Given the description of an element on the screen output the (x, y) to click on. 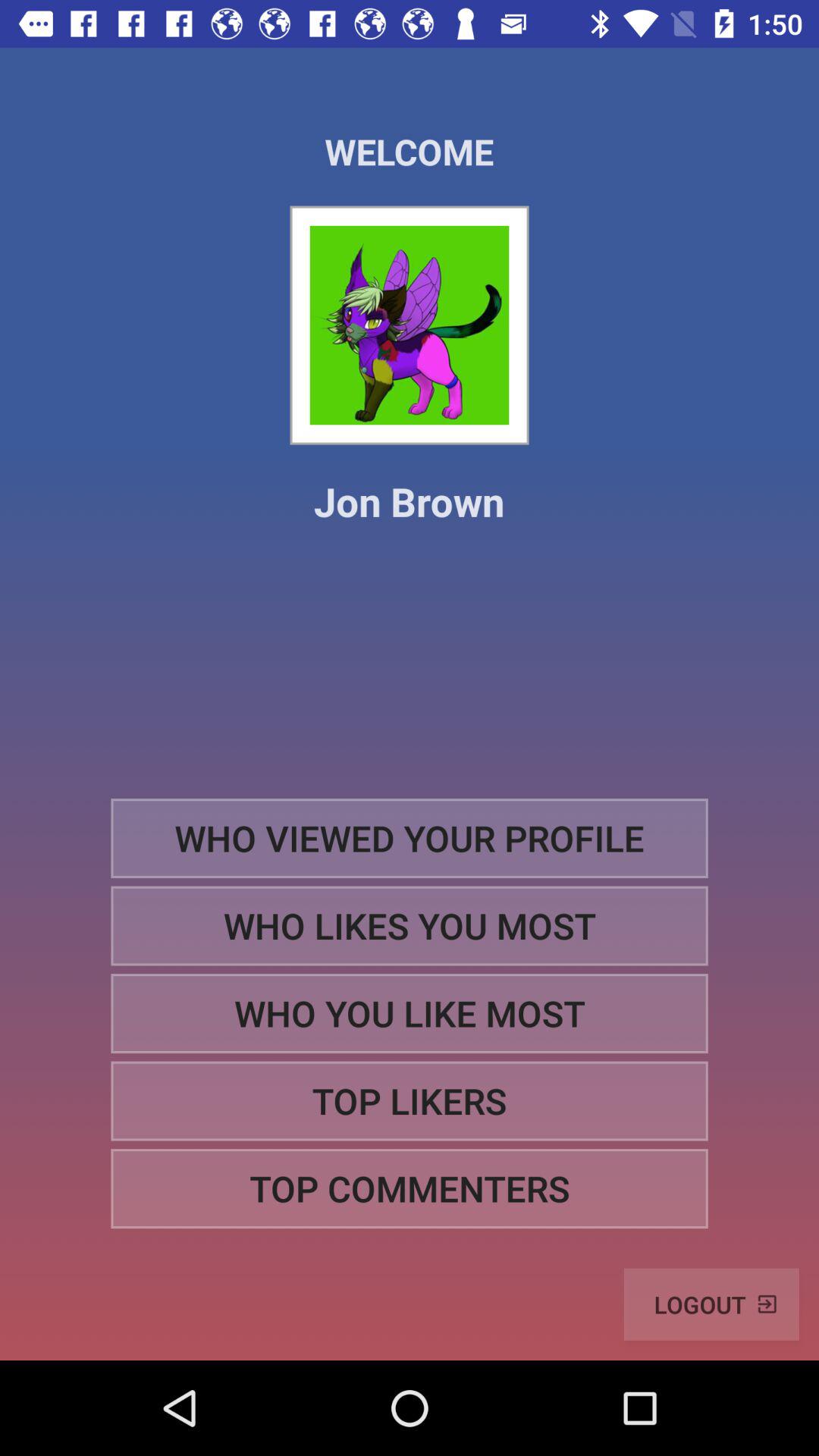
launch item above the top commenters item (409, 1100)
